Given the description of an element on the screen output the (x, y) to click on. 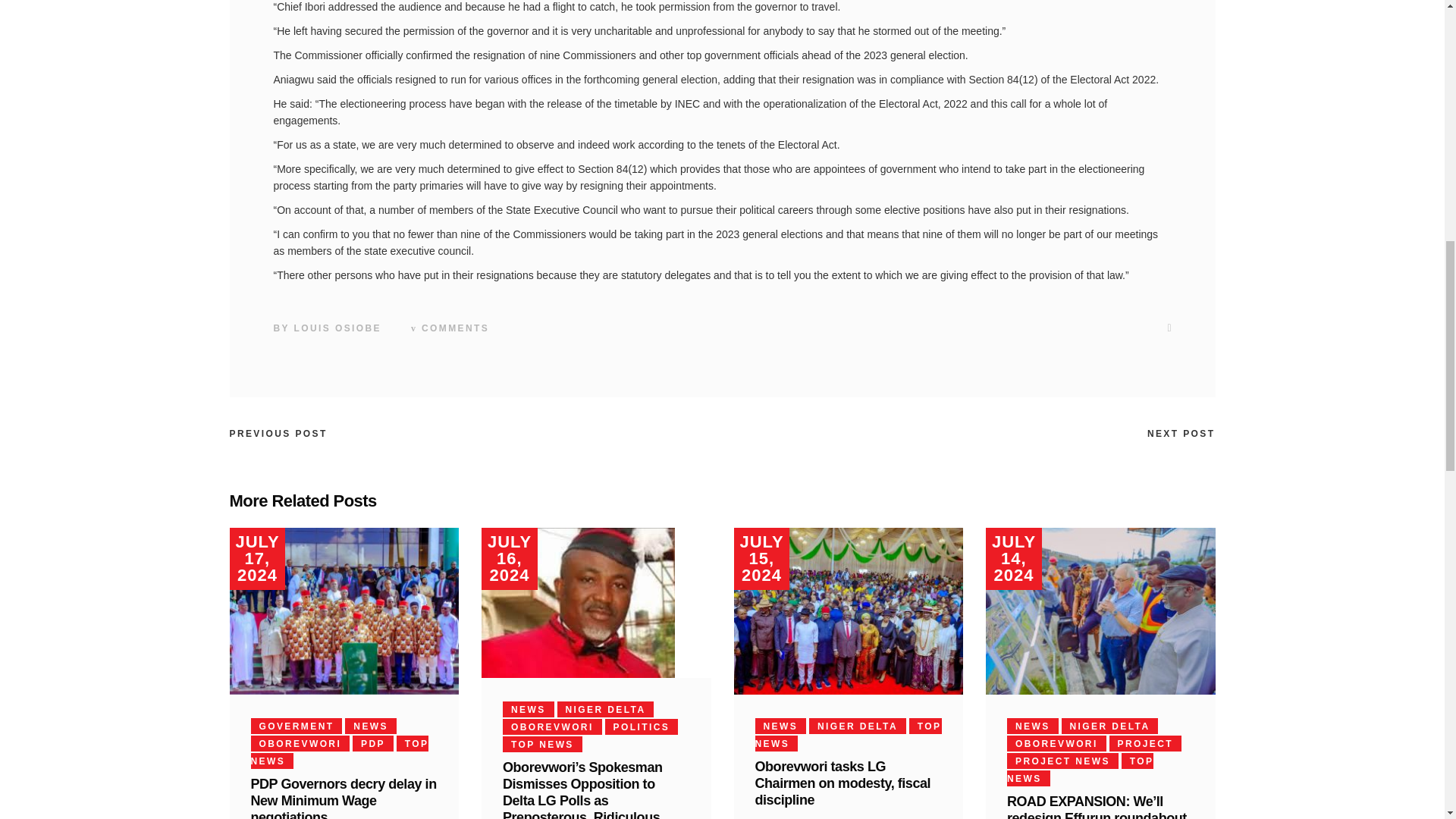
PDP Governors decry delay in New Minimum Wage negotiations (342, 797)
Oborevwori tasks LG Chairmen on modesty, fiscal discipline (848, 610)
Oborevwori tasks LG Chairmen on modesty, fiscal discipline (843, 783)
PDP Governors decry delay in New Minimum Wage negotiations (343, 610)
